Given the description of an element on the screen output the (x, y) to click on. 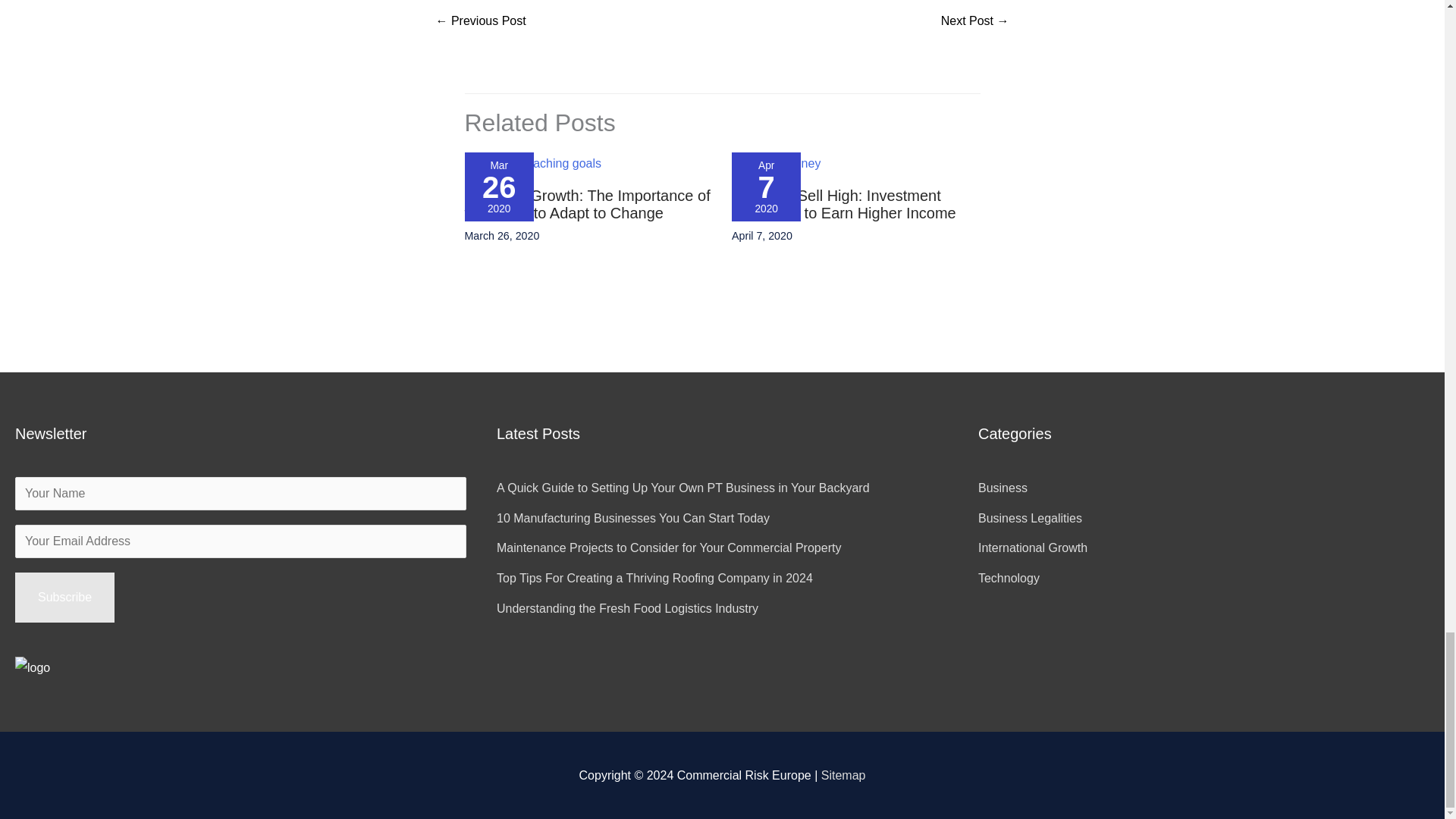
10 Manufacturing Businesses You Can Start Today (633, 517)
Sitemap (843, 775)
Subscribe (64, 597)
Technology (1008, 577)
International Growth (1032, 547)
Top Tips For Creating a Thriving Roofing Company in 2024 (654, 577)
Understanding the Fresh Food Logistics Industry (627, 608)
Looking to Expand Globally? Avoid These Business Blunders (480, 22)
Business (1002, 487)
Subscribe (64, 597)
Business Legalities (1029, 517)
